Given the description of an element on the screen output the (x, y) to click on. 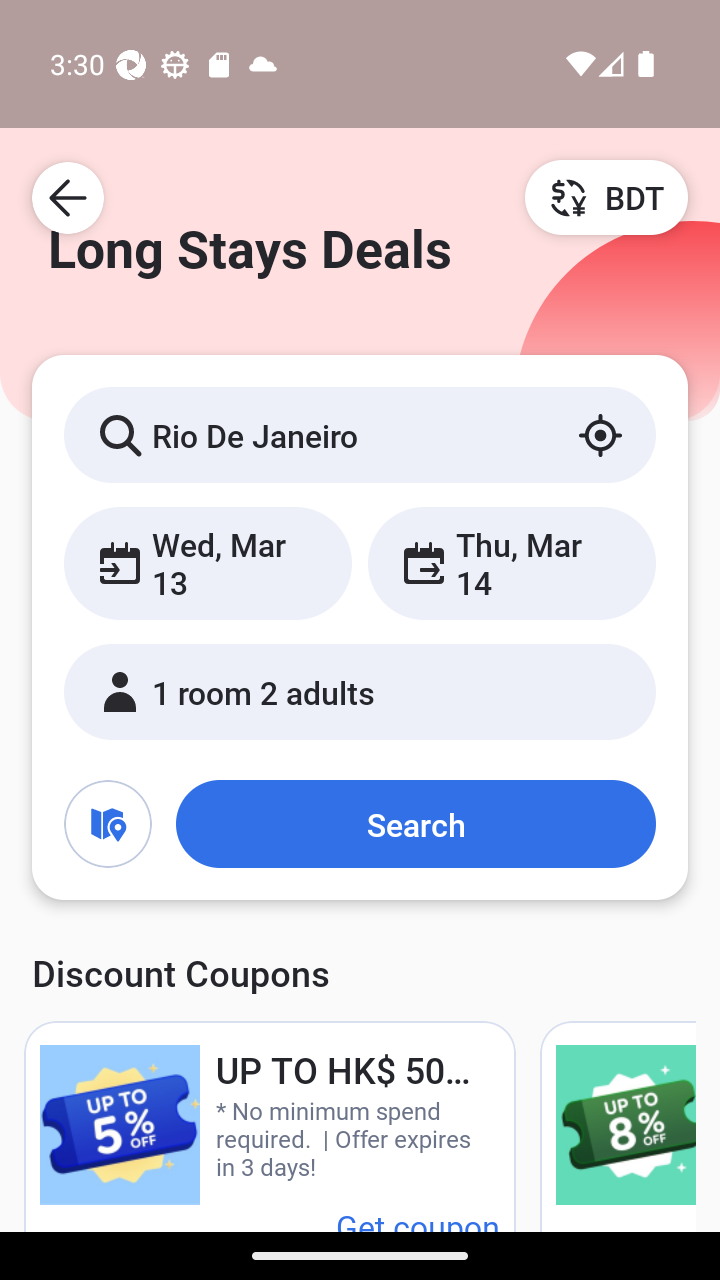
BDT (606, 197)
Rio De Janeiro (359, 434)
Wed, Mar 13 (208, 562)
Thu, Mar 14 (511, 562)
1 room 2 adults (359, 691)
Search (415, 823)
